Given the description of an element on the screen output the (x, y) to click on. 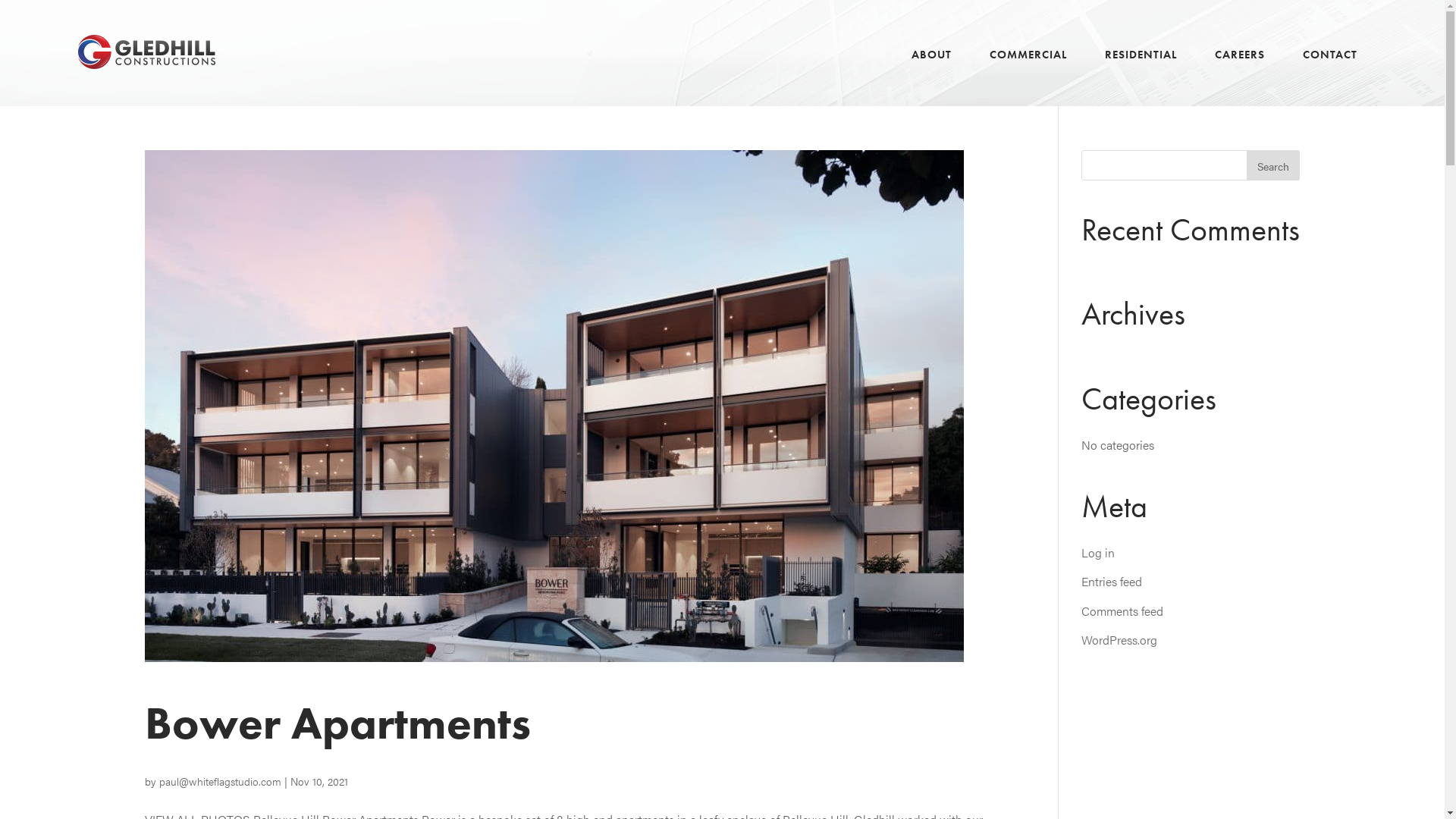
CONTACT Element type: text (1329, 71)
Bower Apartments Element type: text (337, 722)
WordPress.org Element type: text (1119, 639)
RESIDENTIAL Element type: text (1140, 71)
Comments feed Element type: text (1122, 610)
paul@whiteflagstudio.com Element type: text (220, 780)
CAREERS Element type: text (1239, 71)
COMMERCIAL Element type: text (1027, 71)
Entries feed Element type: text (1111, 580)
Log in Element type: text (1097, 552)
ABOUT Element type: text (931, 71)
Search Element type: text (1272, 165)
